Given the description of an element on the screen output the (x, y) to click on. 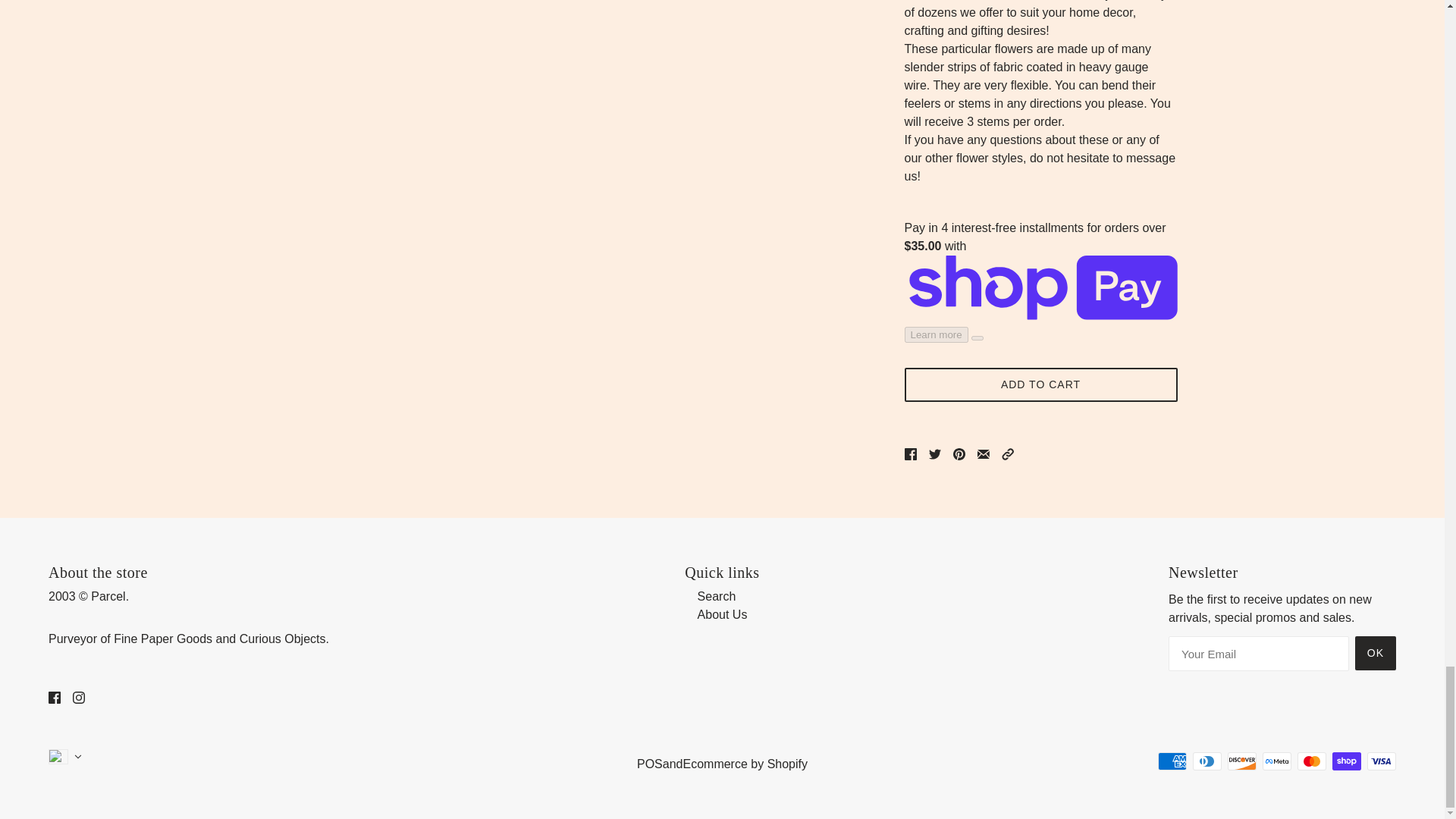
About Us (722, 614)
